Given the description of an element on the screen output the (x, y) to click on. 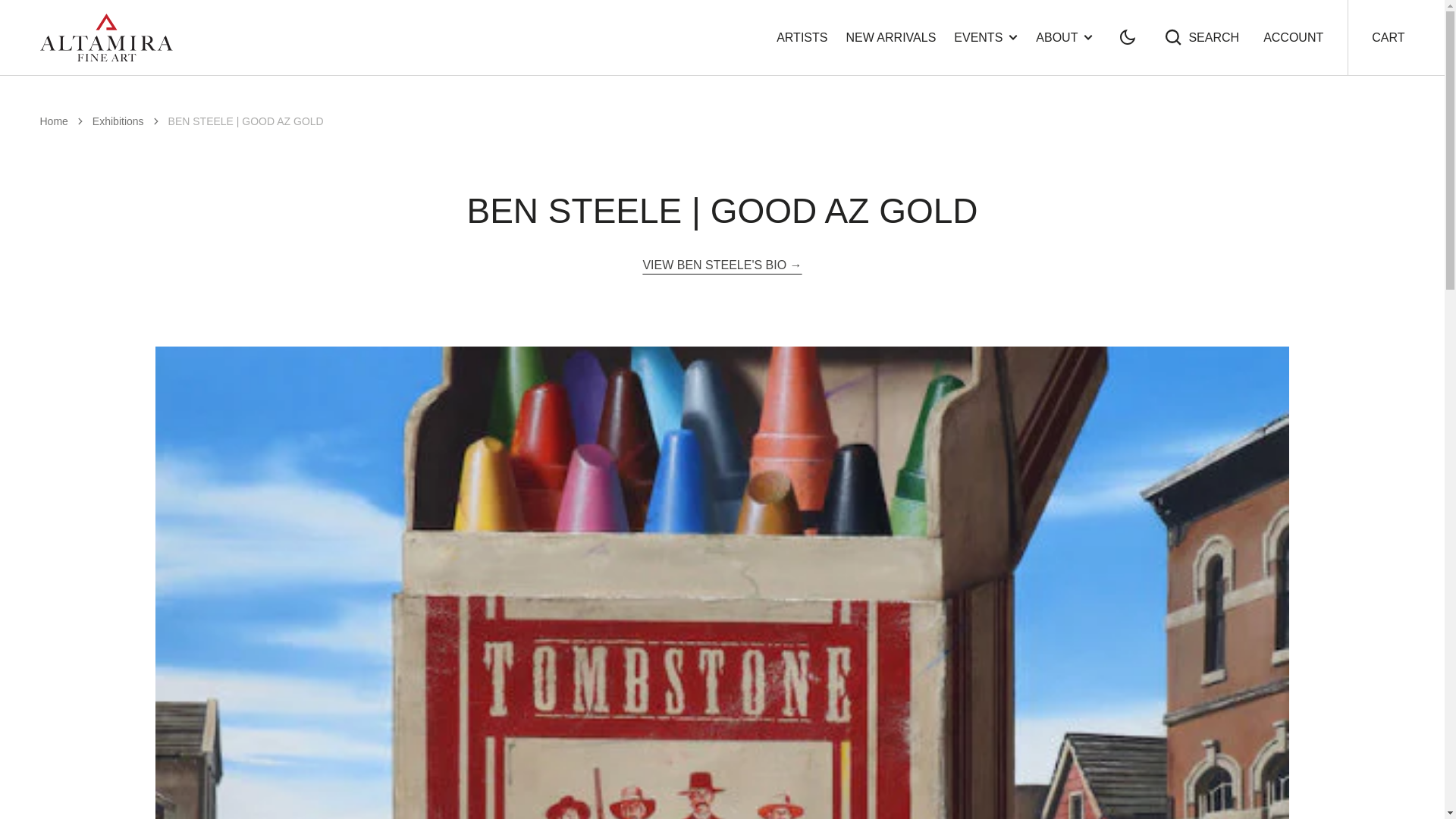
Search (1201, 36)
ARTISTS (1388, 37)
SEARCH (801, 37)
ABOUT (1201, 36)
SKIP TO CONTENT (1064, 36)
NEW ARRIVALS (21, 22)
Home (889, 37)
EVENTS (52, 121)
Exhibitions (985, 36)
Home (118, 121)
Exhibitions (52, 121)
